Given the description of an element on the screen output the (x, y) to click on. 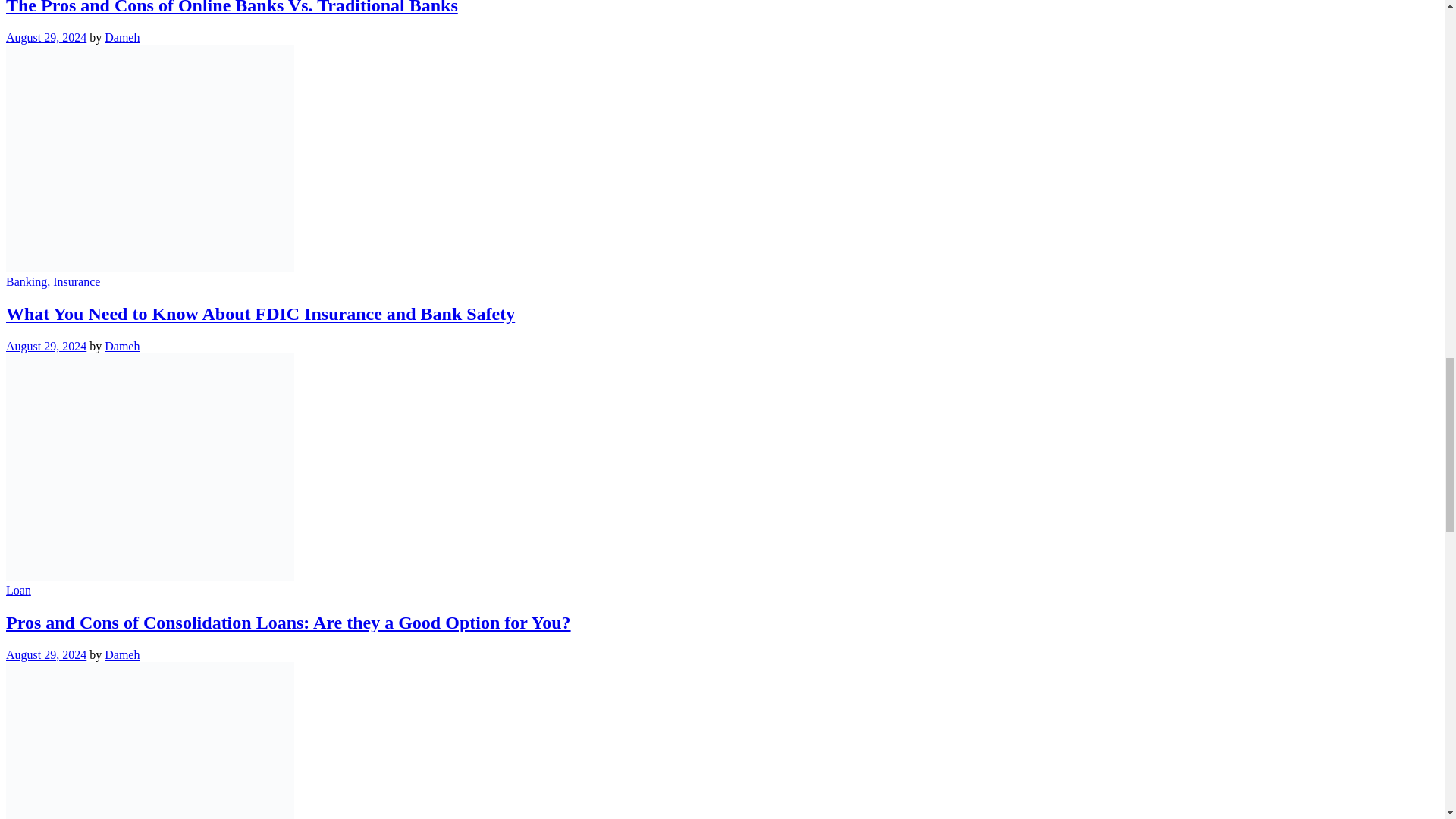
August 29, 2024 (45, 37)
Loan (17, 590)
What You Need to Know About FDIC Insurance and Bank Safety (260, 313)
Dameh (121, 37)
The Pros and Cons of Online Banks Vs. Traditional Banks (231, 7)
Banking (25, 281)
Dameh (121, 345)
August 29, 2024 (45, 345)
, Insurance (73, 281)
